Given the description of an element on the screen output the (x, y) to click on. 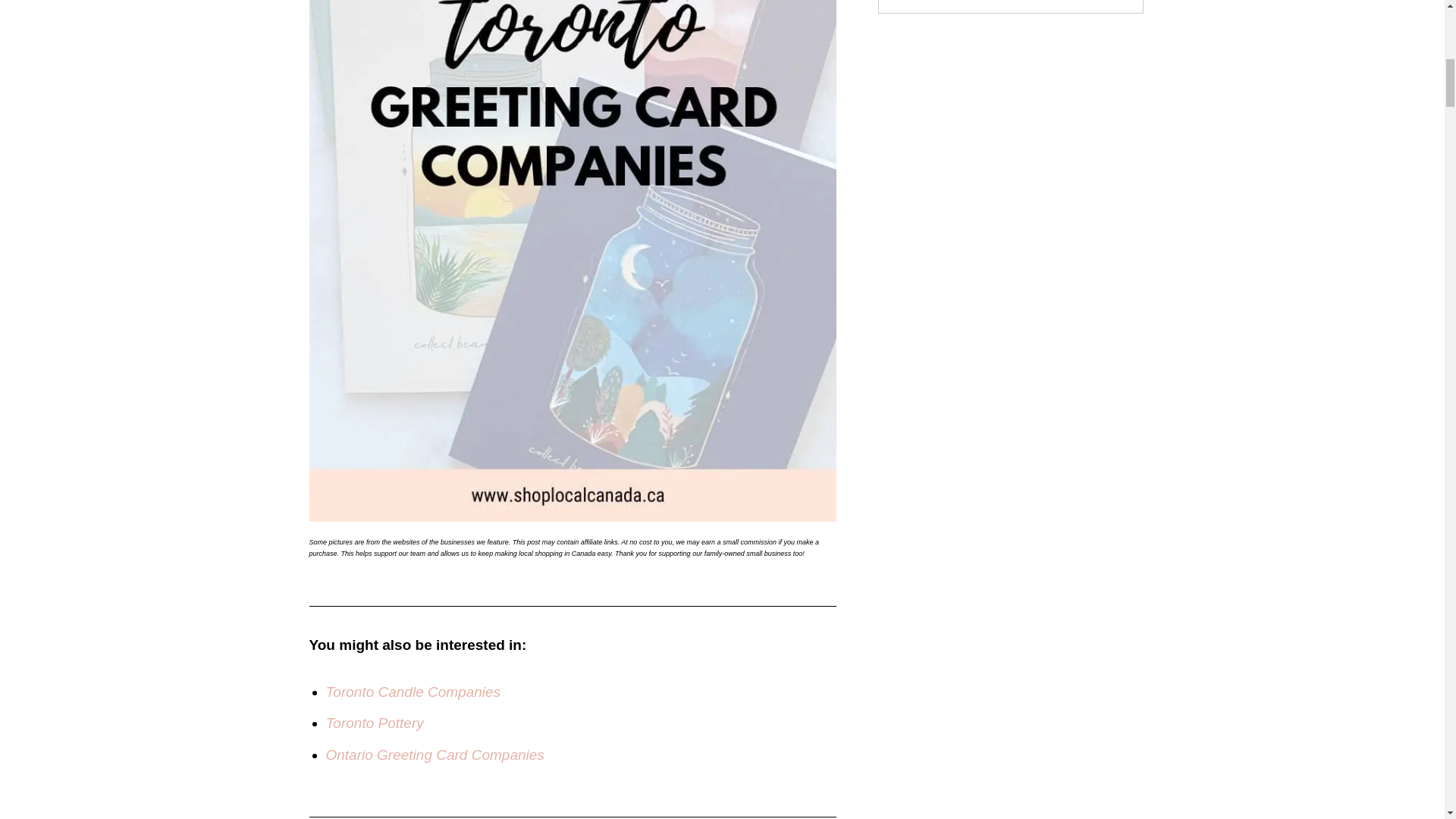
Toronto Pottery (374, 722)
Ontario Greeting Card Companies (435, 754)
Toronto Candle Companies (413, 691)
